Given the description of an element on the screen output the (x, y) to click on. 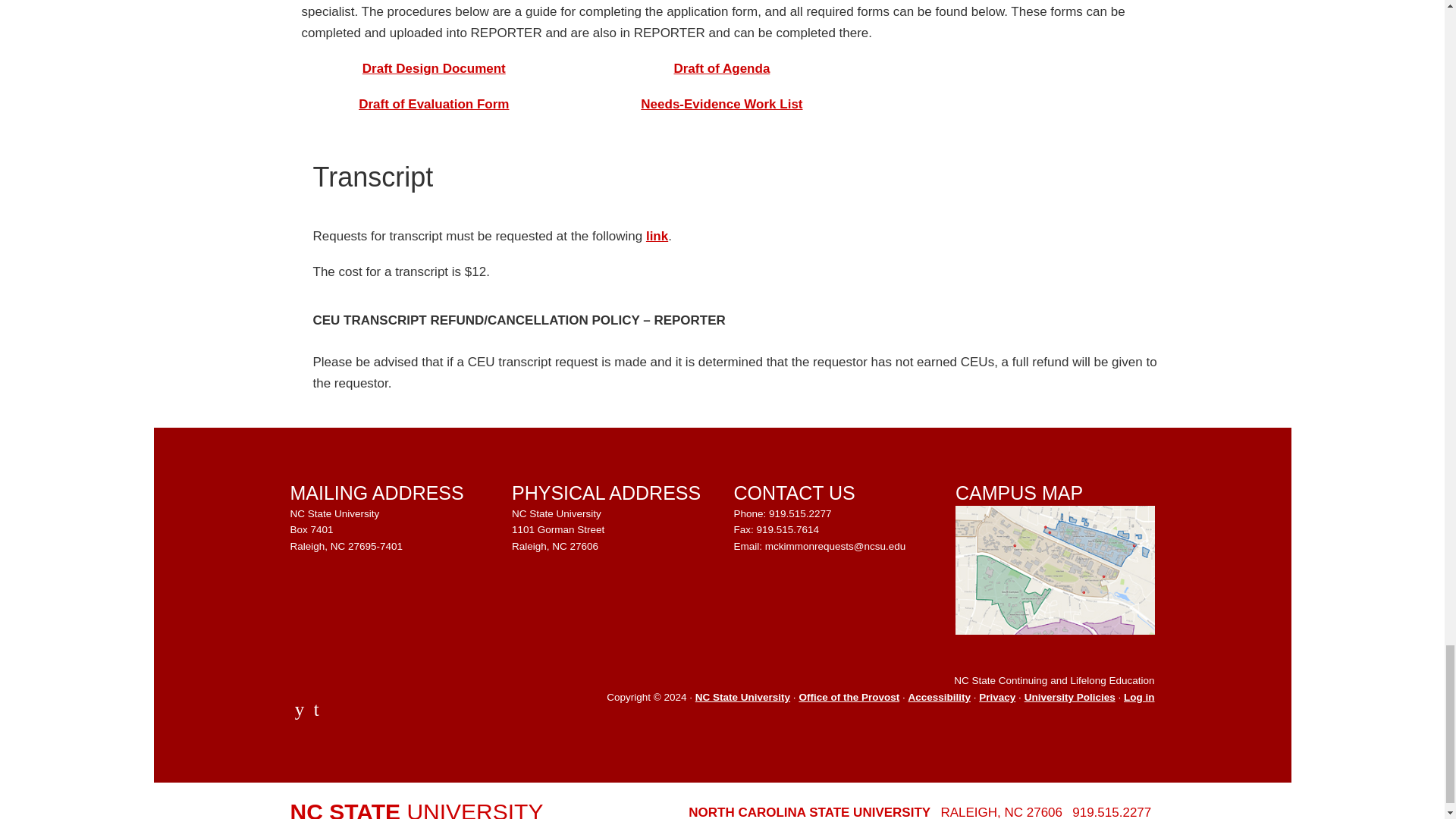
Campus Map (1054, 570)
